Given the description of an element on the screen output the (x, y) to click on. 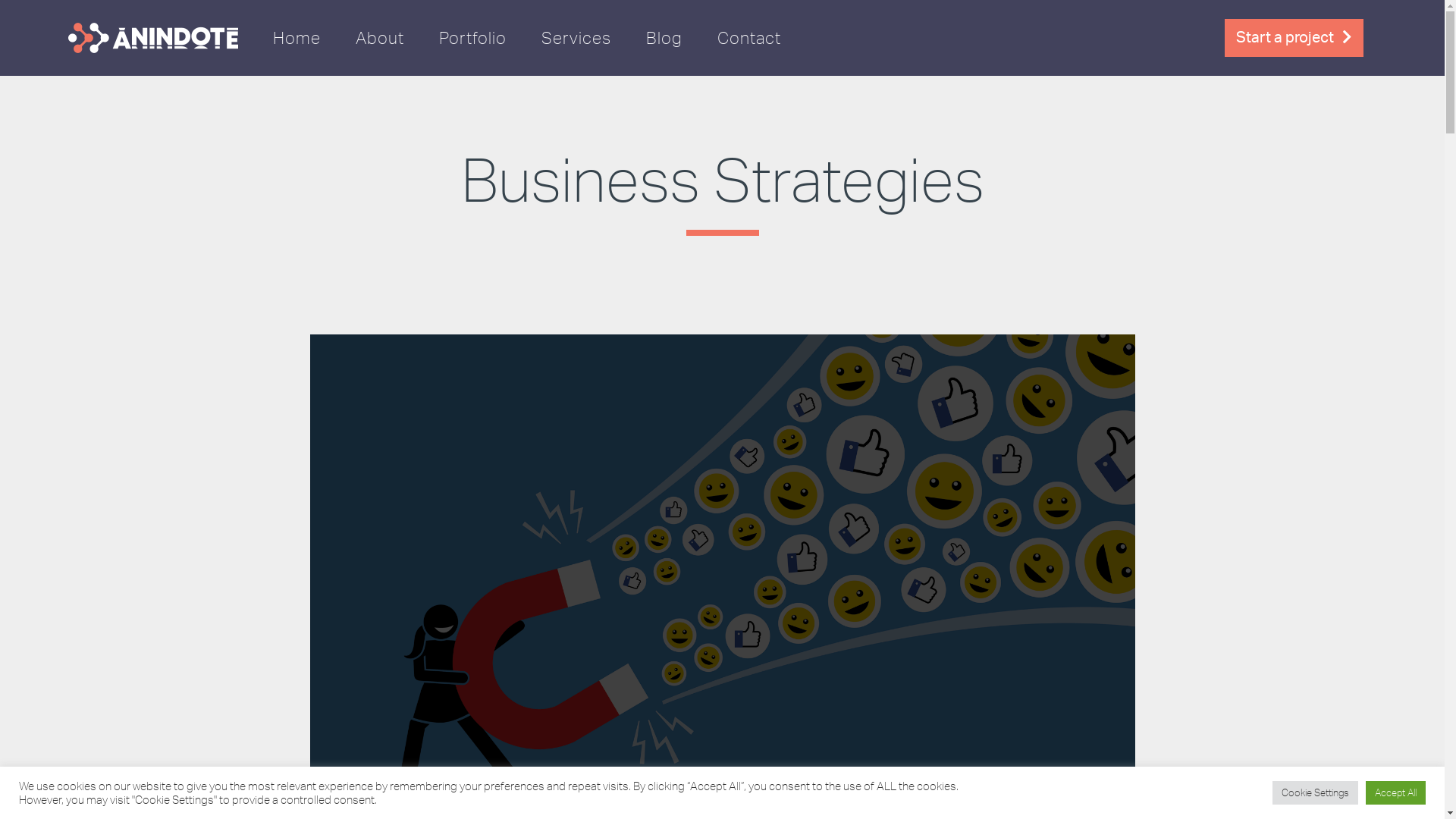
About Element type: text (379, 37)
Portfolio Element type: text (472, 37)
Contact Element type: text (748, 37)
Home Element type: text (296, 37)
Start a project Element type: text (1293, 37)
Blog Element type: text (663, 37)
Cookie Settings Element type: text (1315, 792)
Accept All Element type: text (1395, 792)
Services Element type: text (576, 37)
